Given the description of an element on the screen output the (x, y) to click on. 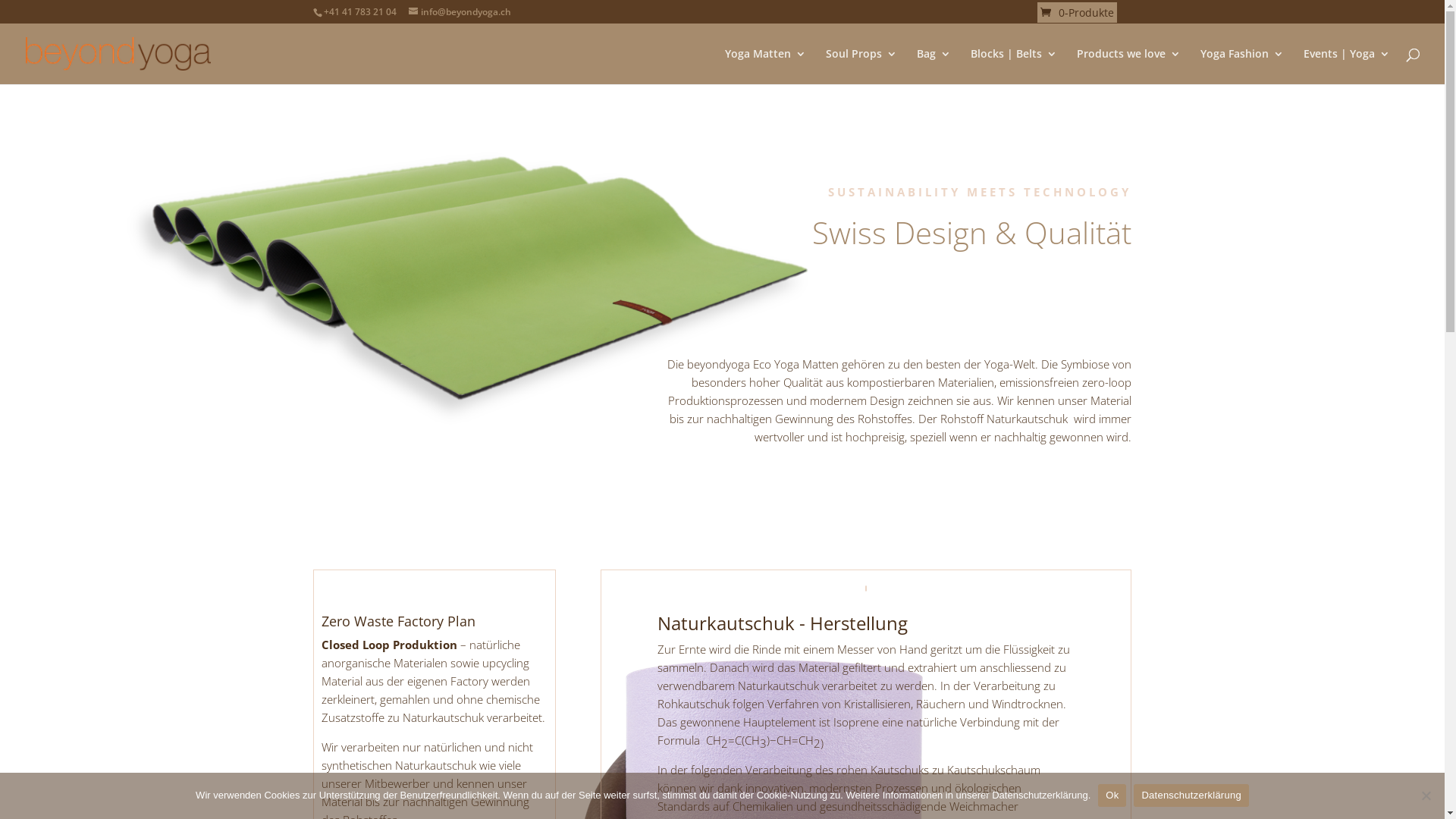
Products we love Element type: text (1128, 66)
info@beyondyoga.ch Element type: text (458, 11)
Soul Props Element type: text (861, 66)
Blocks | Belts Element type: text (1013, 66)
Bag Element type: text (933, 66)
Events | Yoga Element type: text (1346, 66)
No Element type: hover (1425, 795)
Yoga Matten Element type: text (765, 66)
Yoga Fashion Element type: text (1241, 66)
Ok Element type: text (1112, 795)
0-Produkte Element type: text (1077, 12)
